Given the description of an element on the screen output the (x, y) to click on. 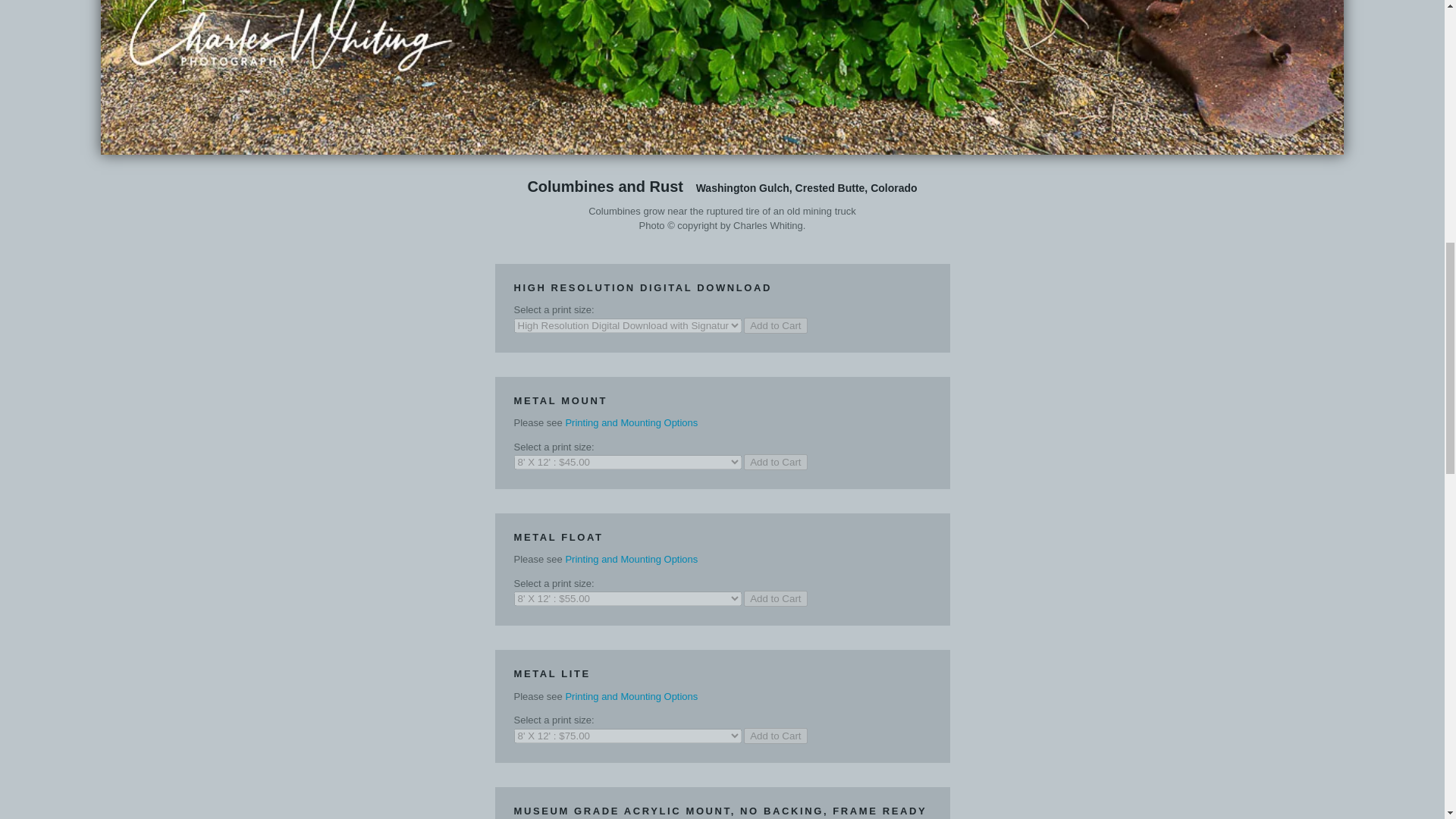
Add to Cart (775, 735)
Add to Cart (775, 462)
Add to Cart (775, 598)
Printing and Mounting Options (630, 559)
Printing and Mounting Options (630, 422)
Printing and Mounting Options (630, 696)
Add to Cart (775, 325)
